Given the description of an element on the screen output the (x, y) to click on. 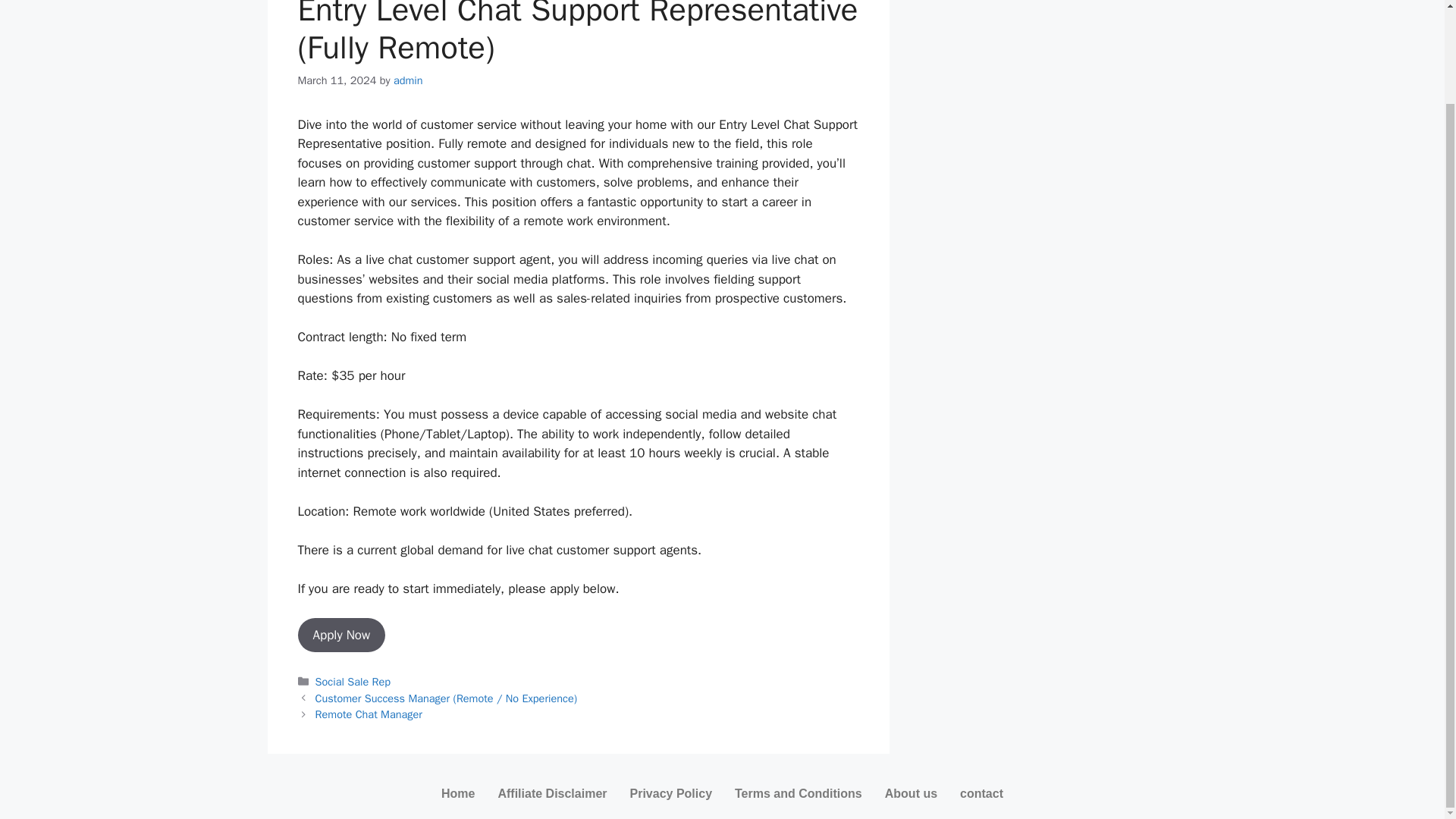
Affiliate Disclaimer (551, 793)
Privacy Policy (670, 793)
contact (981, 793)
Apply Now (341, 635)
Social Sale Rep (352, 681)
Home (457, 793)
Terms and Conditions (798, 793)
Remote Chat Manager (368, 714)
View all posts by admin (408, 79)
admin (408, 79)
